Given the description of an element on the screen output the (x, y) to click on. 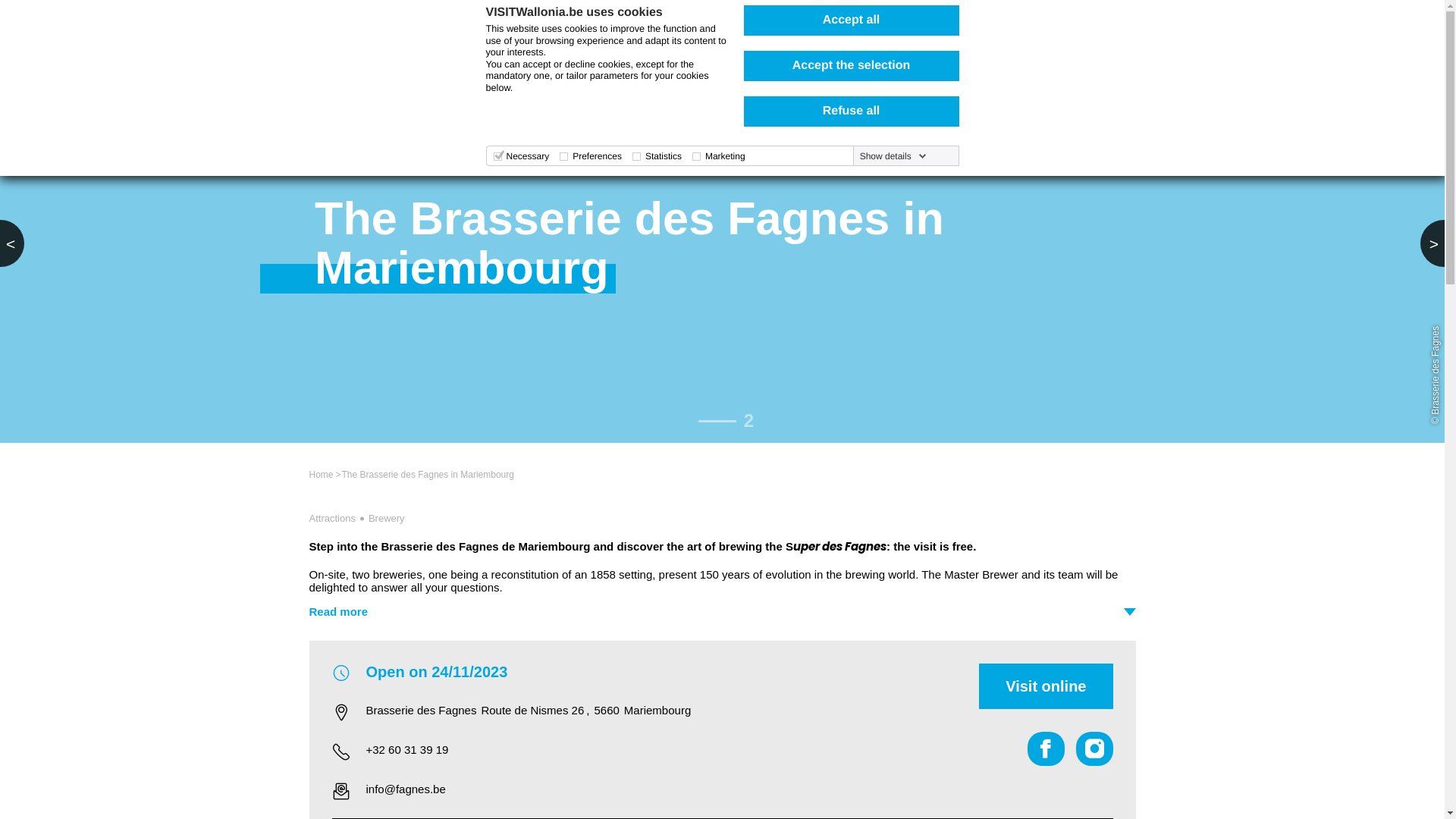
Instagram Element type: text (1093, 748)
Brasserie des FagnesRoute de Nismes 26,5660Mariembourg Element type: text (657, 709)
Accept all Element type: text (850, 20)
Home Element type: text (321, 474)
MENU Element type: text (1089, 21)
Visit online Element type: text (1045, 686)
Refuse all Element type: text (850, 111)
+32 60 31 39 19 Element type: text (657, 749)
Show details Element type: text (892, 156)
Next Element type: text (1432, 242)
Previous Element type: text (12, 242)
Home Element type: hover (415, 21)
Facebook Element type: text (1045, 748)
Read more Element type: text (722, 611)
Accept the selection Element type: text (850, 65)
info@fagnes.be Element type: text (657, 788)
